Given the description of an element on the screen output the (x, y) to click on. 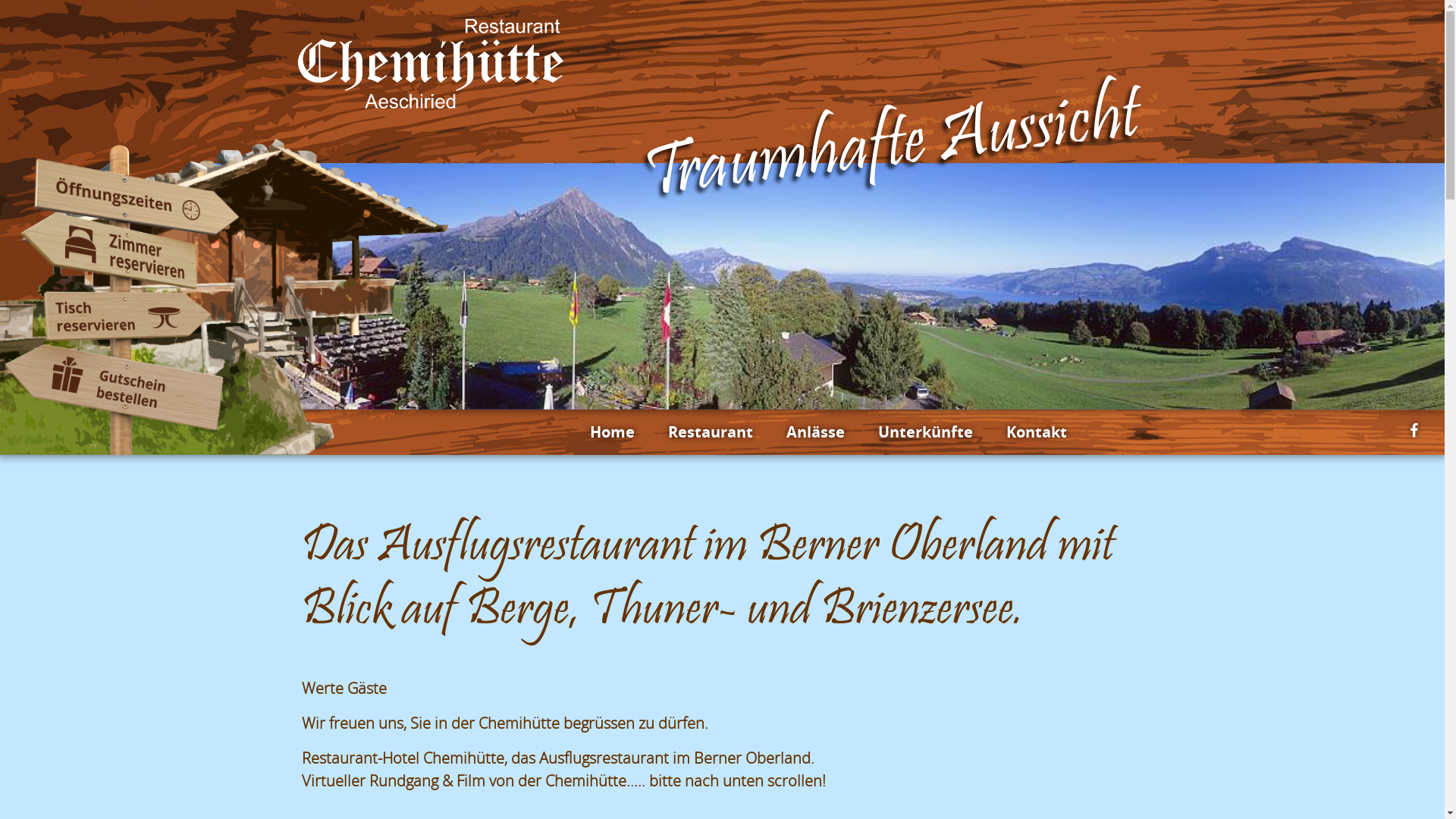
Restaurant Element type: text (709, 432)
Kontakt Element type: text (1035, 432)
Home Element type: text (611, 432)
